Given the description of an element on the screen output the (x, y) to click on. 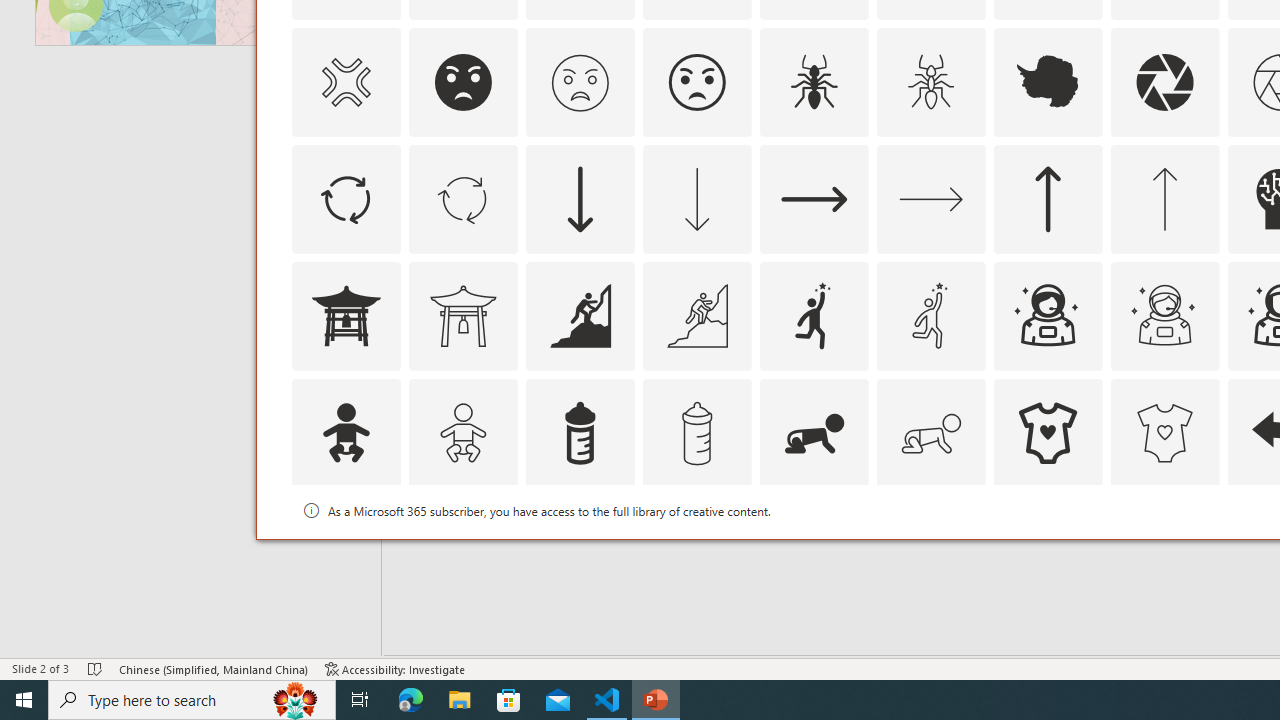
AutomationID: Icons_AsianTemple1 (345, 316)
AutomationID: Icons_AstronautFemale (1048, 316)
AutomationID: Icons_Aspiration1 (813, 316)
AutomationID: Icons_ArrowRight_M (930, 198)
AutomationID: Icons_Badge4 (930, 550)
AutomationID: Icons_BabyBottle (579, 432)
AutomationID: Icons_Badge2 (463, 550)
AutomationID: Icons_Badge2_M (579, 550)
